Given the description of an element on the screen output the (x, y) to click on. 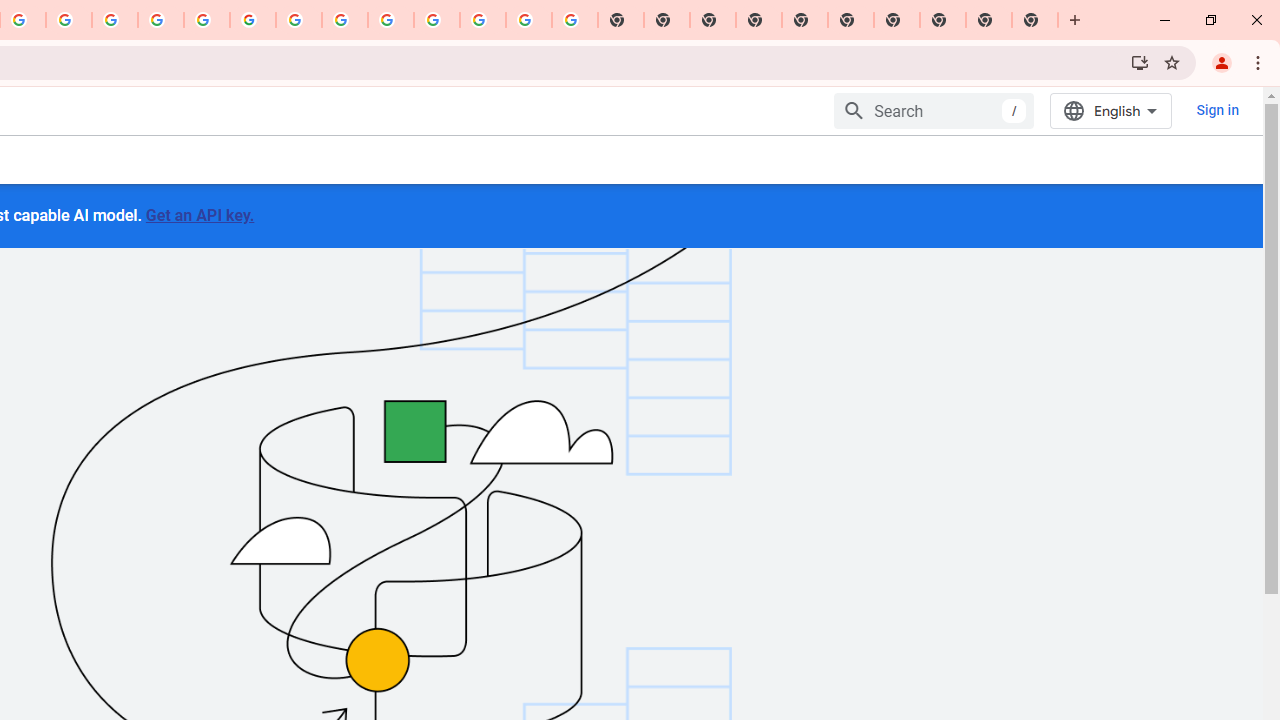
Privacy Help Center - Policies Help (115, 20)
New Tab (759, 20)
Privacy Help Center - Policies Help (161, 20)
English (1110, 110)
Google Images (574, 20)
YouTube (299, 20)
